Given the description of an element on the screen output the (x, y) to click on. 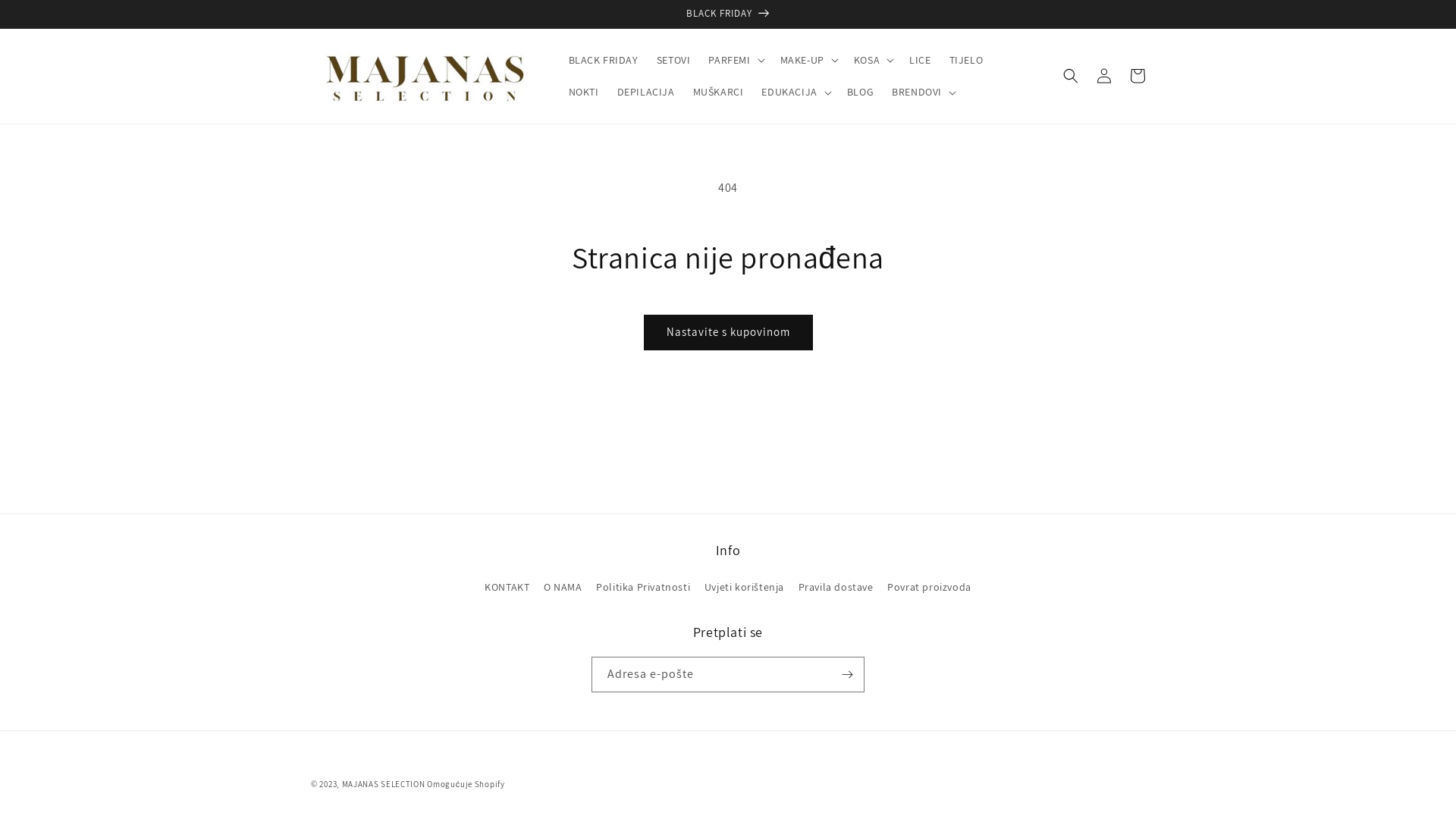
NOKTI Element type: text (583, 91)
TIJELO Element type: text (966, 59)
Pravila dostave Element type: text (835, 587)
O NAMA Element type: text (562, 587)
BLOG Element type: text (859, 91)
KONTAKT Element type: text (506, 588)
MAJANAS SELECTION Element type: text (383, 783)
Povrat proizvoda Element type: text (929, 587)
SETOVI Element type: text (673, 59)
Nastavite s kupovinom Element type: text (727, 332)
DEPILACIJA Element type: text (646, 91)
Politika Privatnosti Element type: text (643, 587)
LICE Element type: text (919, 59)
BLACK FRIDAY Element type: text (603, 59)
Prijava Element type: text (1103, 75)
